Given the description of an element on the screen output the (x, y) to click on. 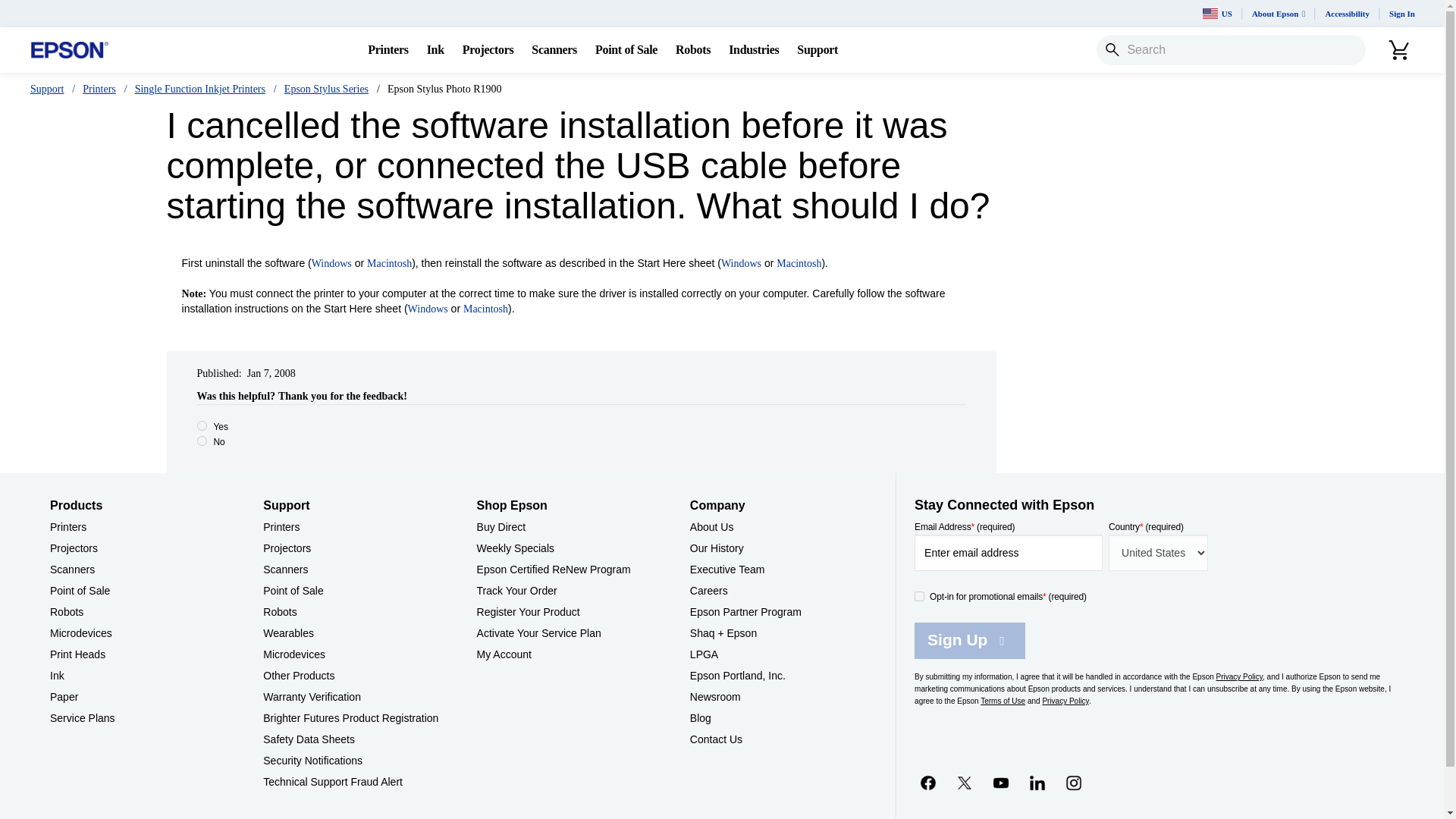
yes (201, 425)
Accessibility (1347, 13)
Accessibility (1347, 13)
US (1217, 13)
US (1217, 13)
Sign In (1401, 13)
Epson Logo (69, 49)
About Epson (1278, 13)
on (919, 596)
Sign In (1401, 13)
